Given the description of an element on the screen output the (x, y) to click on. 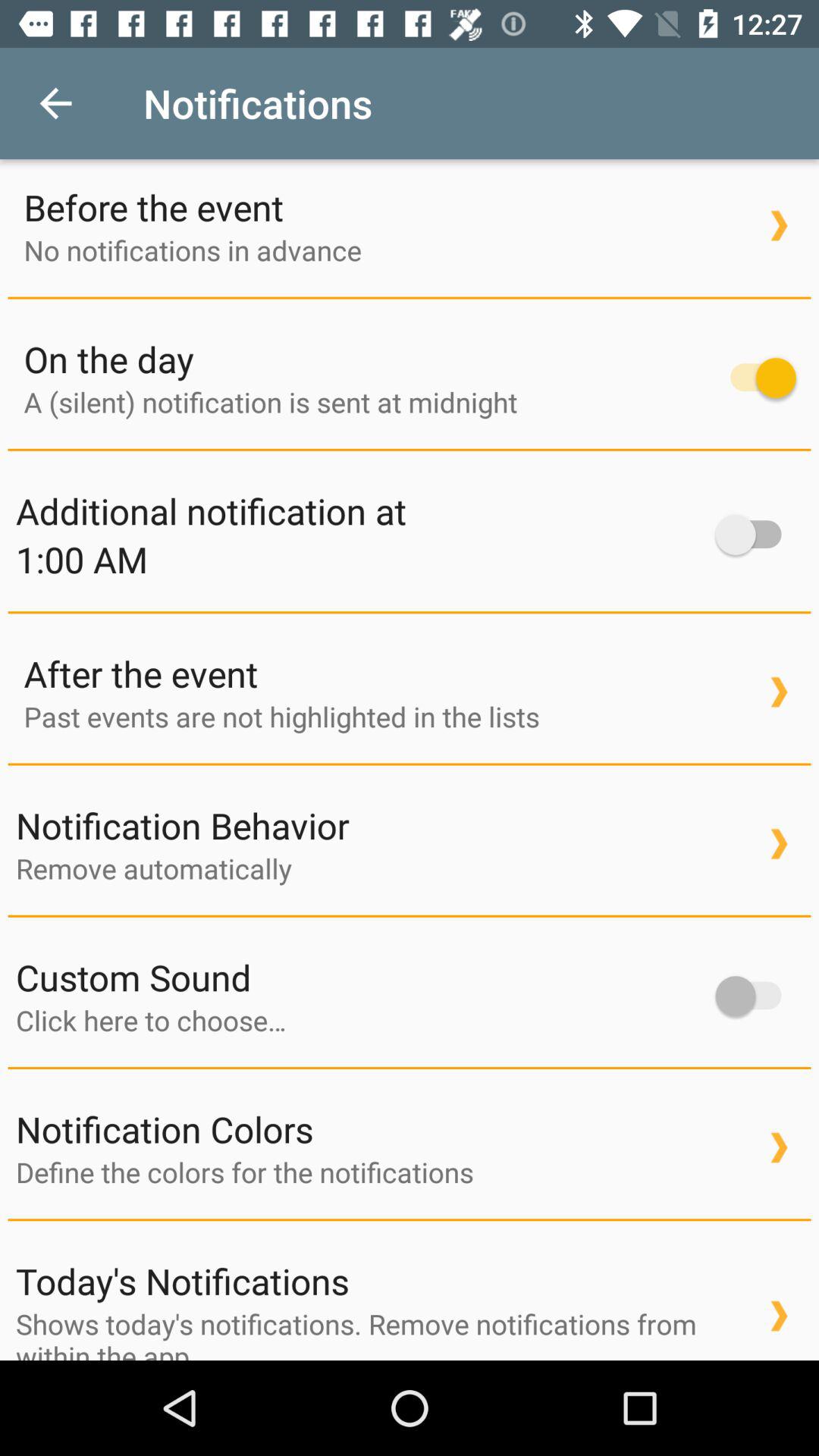
toggle custom sound (755, 996)
